Given the description of an element on the screen output the (x, y) to click on. 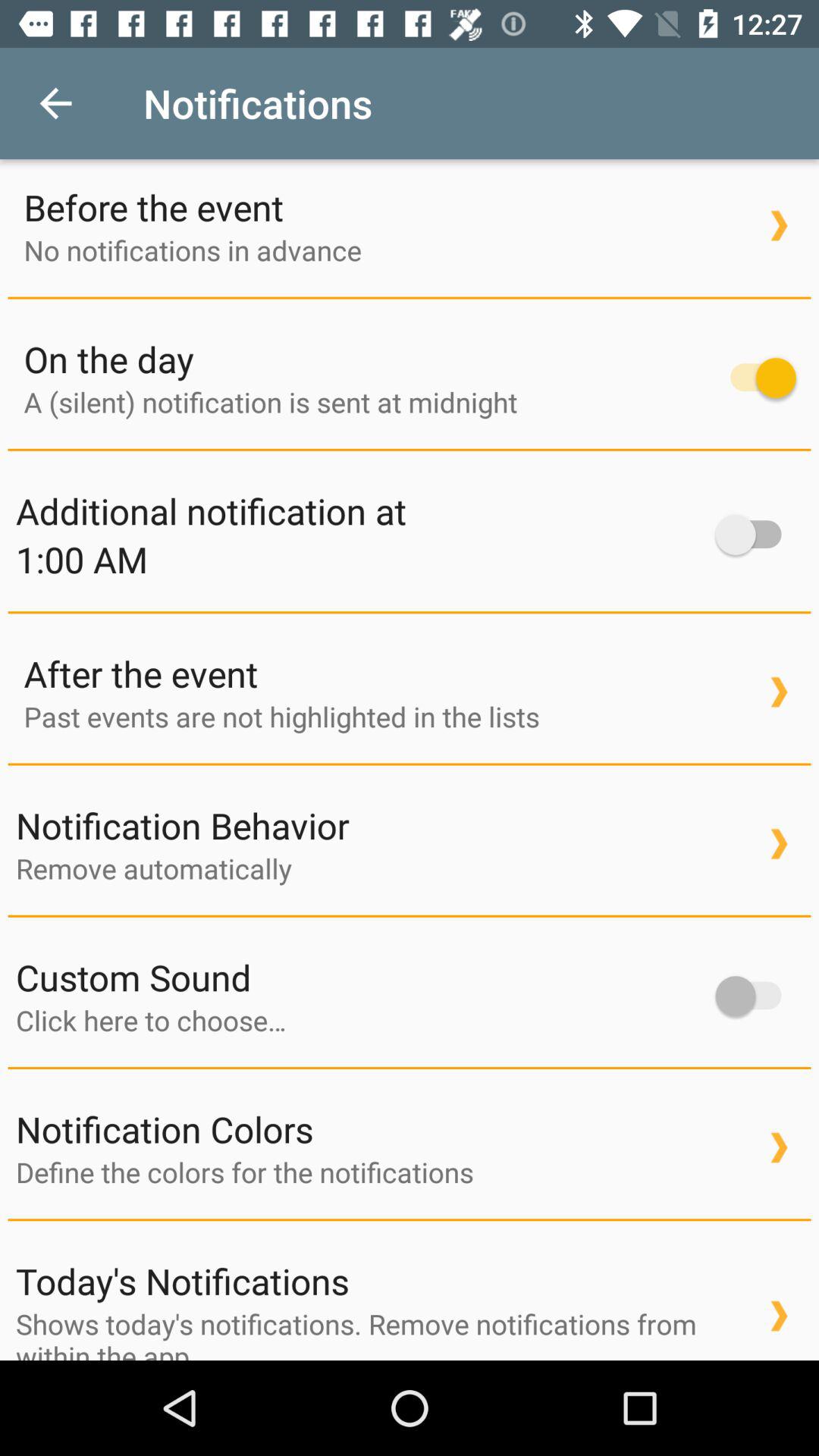
toggle custom sound (755, 996)
